Given the description of an element on the screen output the (x, y) to click on. 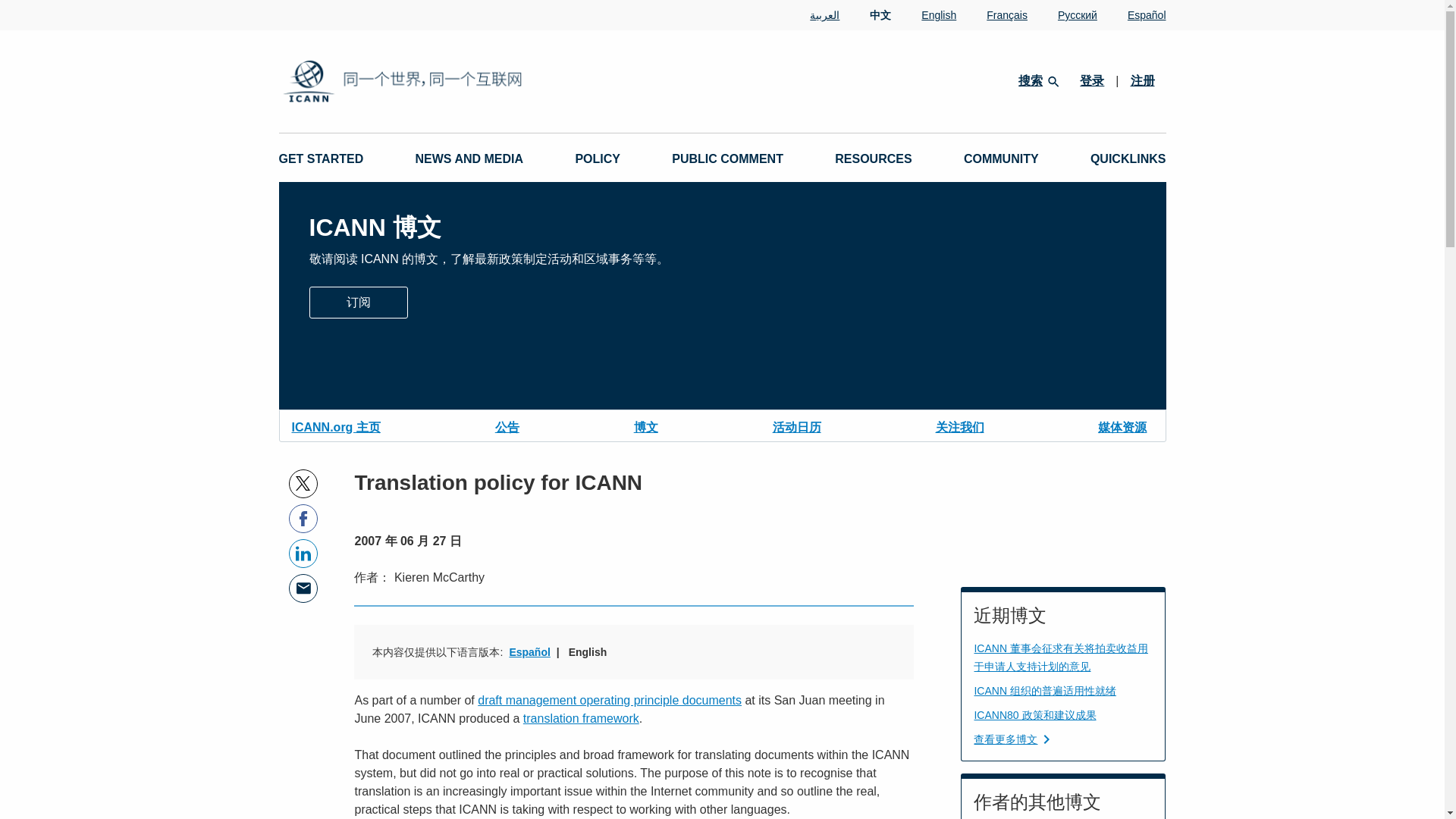
PUBLIC COMMENT (727, 158)
POLICY (597, 158)
English (923, 14)
COMMUNITY (1001, 158)
GET STARTED (321, 158)
NEWS AND MEDIA (469, 158)
QUICKLINKS (1128, 158)
Logo (452, 81)
RESOURCES (872, 158)
